Given the description of an element on the screen output the (x, y) to click on. 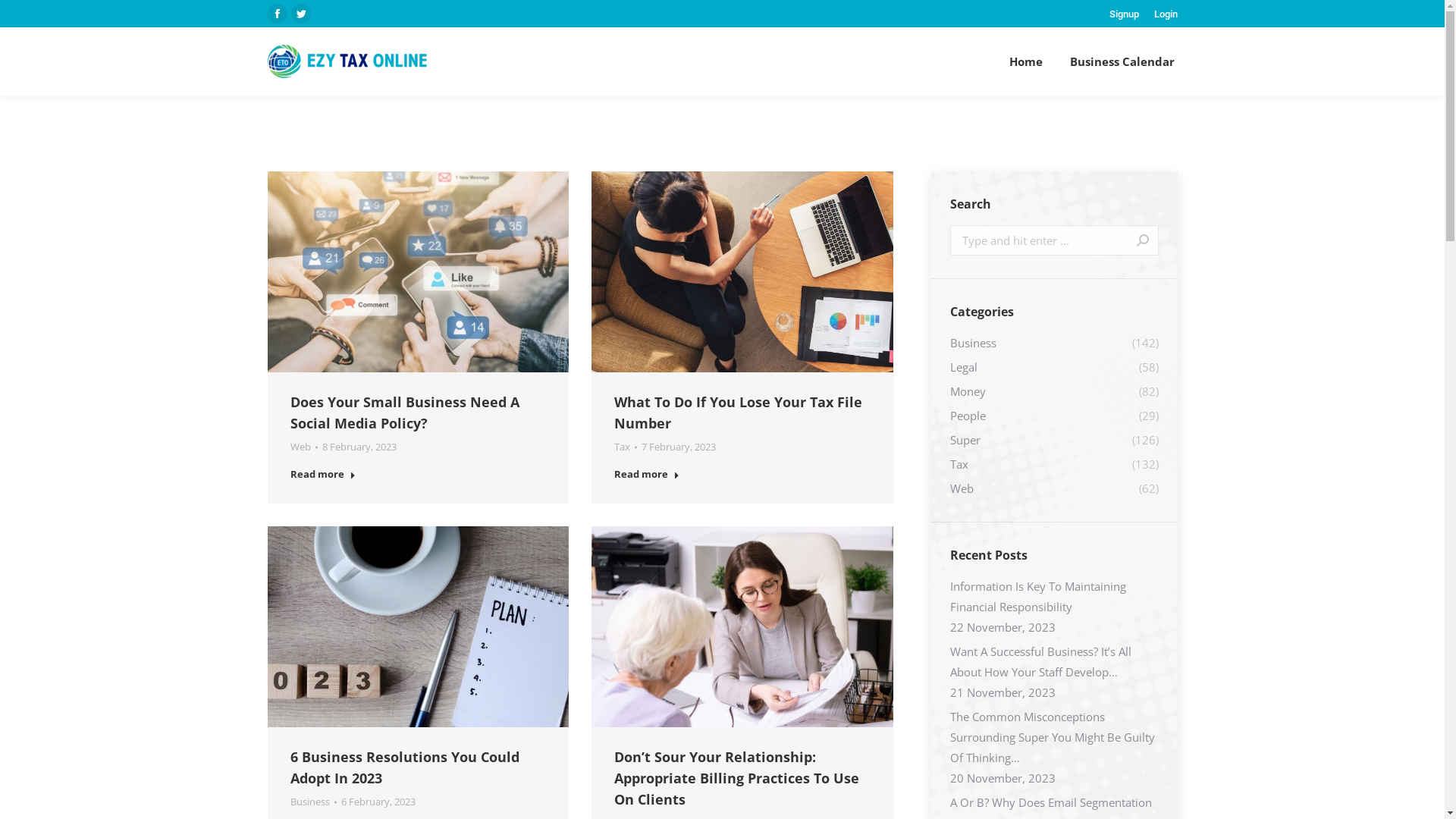
What To Do If You Lose Your Tax File Number Element type: text (738, 412)
Business Calendar Element type: text (1121, 60)
Go! Element type: text (1134, 240)
Read more Element type: text (646, 476)
Read more Element type: text (321, 476)
Home Element type: text (1024, 60)
Login Element type: text (1165, 12)
Does Your Small Business Need A Social Media Policy Element type: hover (417, 271)
Twitter page opens in new window Element type: text (300, 13)
Facebook page opens in new window Element type: text (276, 13)
Business Resolutions You Could Adopt In Element type: hover (417, 626)
7 February, 2023 Element type: text (678, 446)
Signup Element type: text (1123, 12)
6 February, 2023 Element type: text (378, 801)
Web Element type: text (299, 446)
Business Element type: text (309, 801)
8 February, 2023 Element type: text (358, 446)
Tax Element type: text (622, 446)
6 Business Resolutions You Could Adopt In 2023 Element type: text (403, 767)
What To Do If You Lose Your Tax File Number Element type: hover (742, 271)
Does Your Small Business Need A Social Media Policy? Element type: text (403, 412)
Information Is Key To Maintaining Financial Responsibility Element type: text (1053, 596)
